Given the description of an element on the screen output the (x, y) to click on. 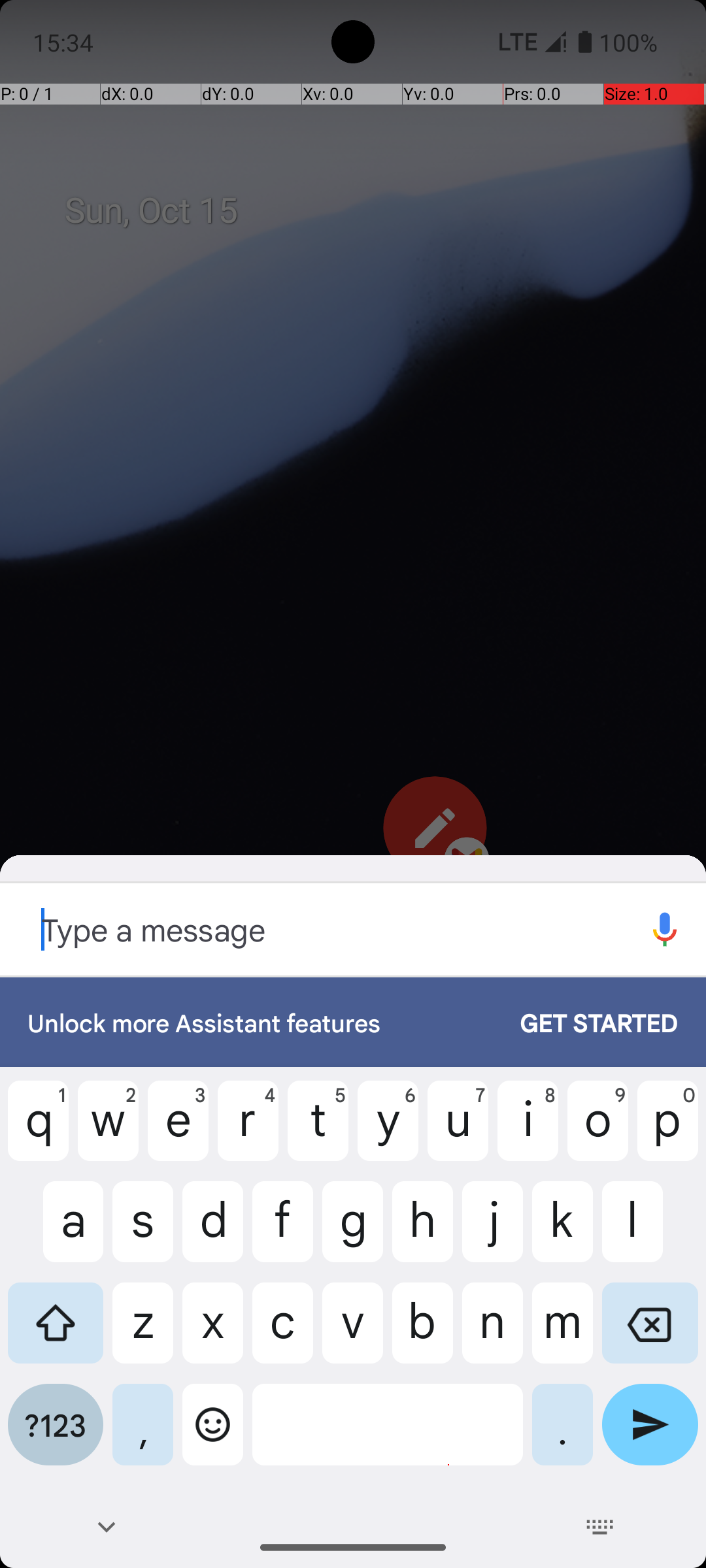
Tap to dismiss Assistant Element type: android.view.ViewGroup (353, 574)
Google Assistant widget. Element type: android.support.v7.widget.RecyclerView (353, 916)
Type a message Element type: android.widget.EditText (311, 929)
Unlock more Assistant features Element type: android.widget.TextView (259, 1021)
GET STARTED Element type: android.widget.TextView (585, 1021)
Open explore page Element type: android.widget.ImageView (664, 928)
Send Element type: android.widget.FrameLayout (649, 1434)
